Given the description of an element on the screen output the (x, y) to click on. 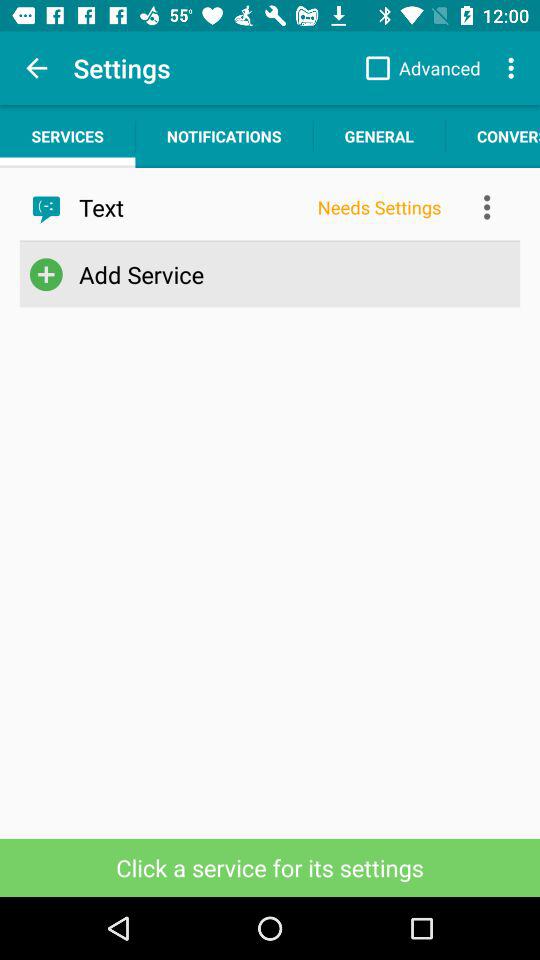
choose the app below the services item (191, 207)
